Given the description of an element on the screen output the (x, y) to click on. 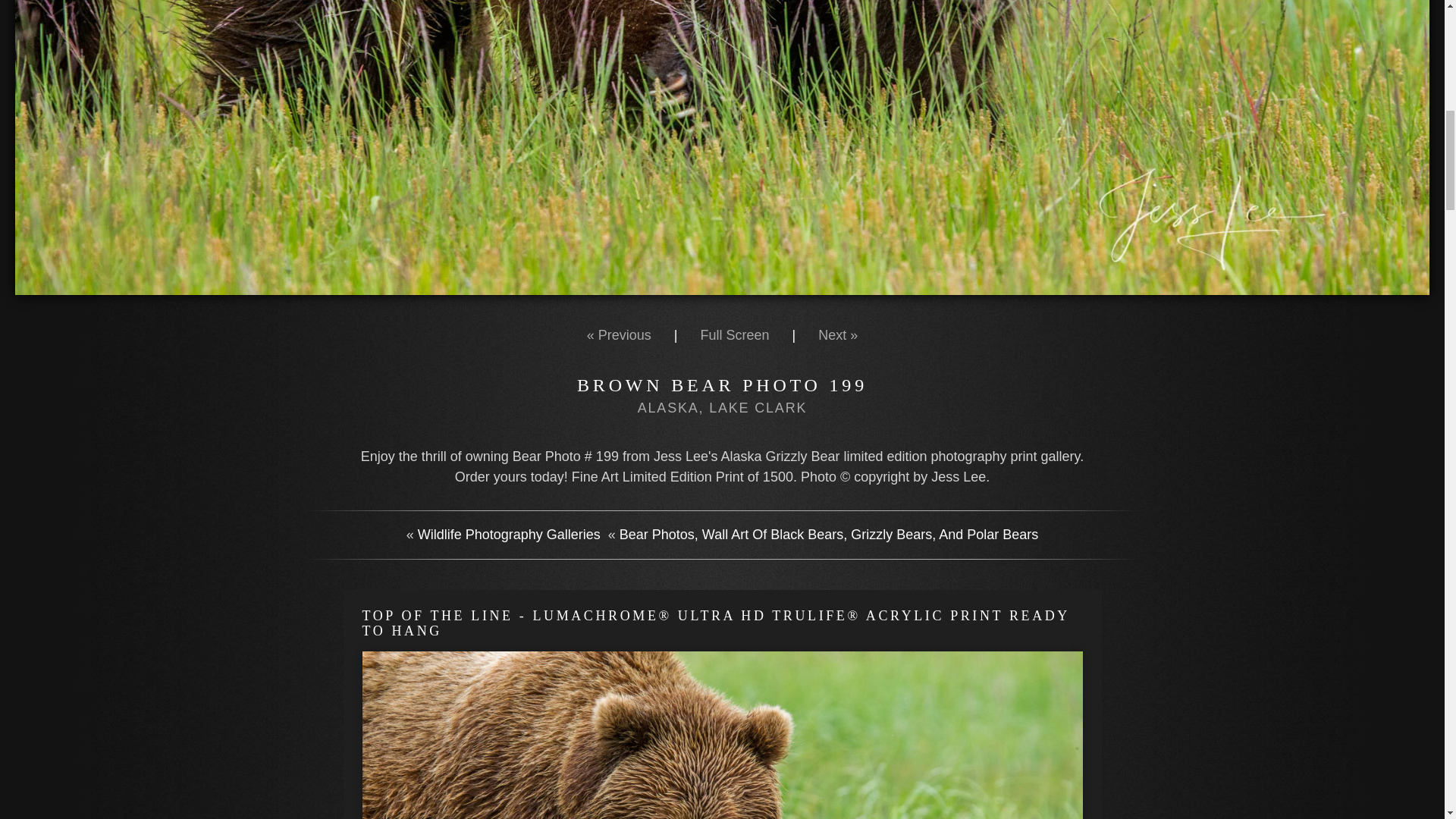
See more  Wildlife Photography Galleries photos (508, 534)
Next Photo (837, 335)
Previous Photo (618, 335)
Full Screen (734, 335)
Full Screen (734, 335)
Wildlife Photography Galleries (508, 534)
